Given the description of an element on the screen output the (x, y) to click on. 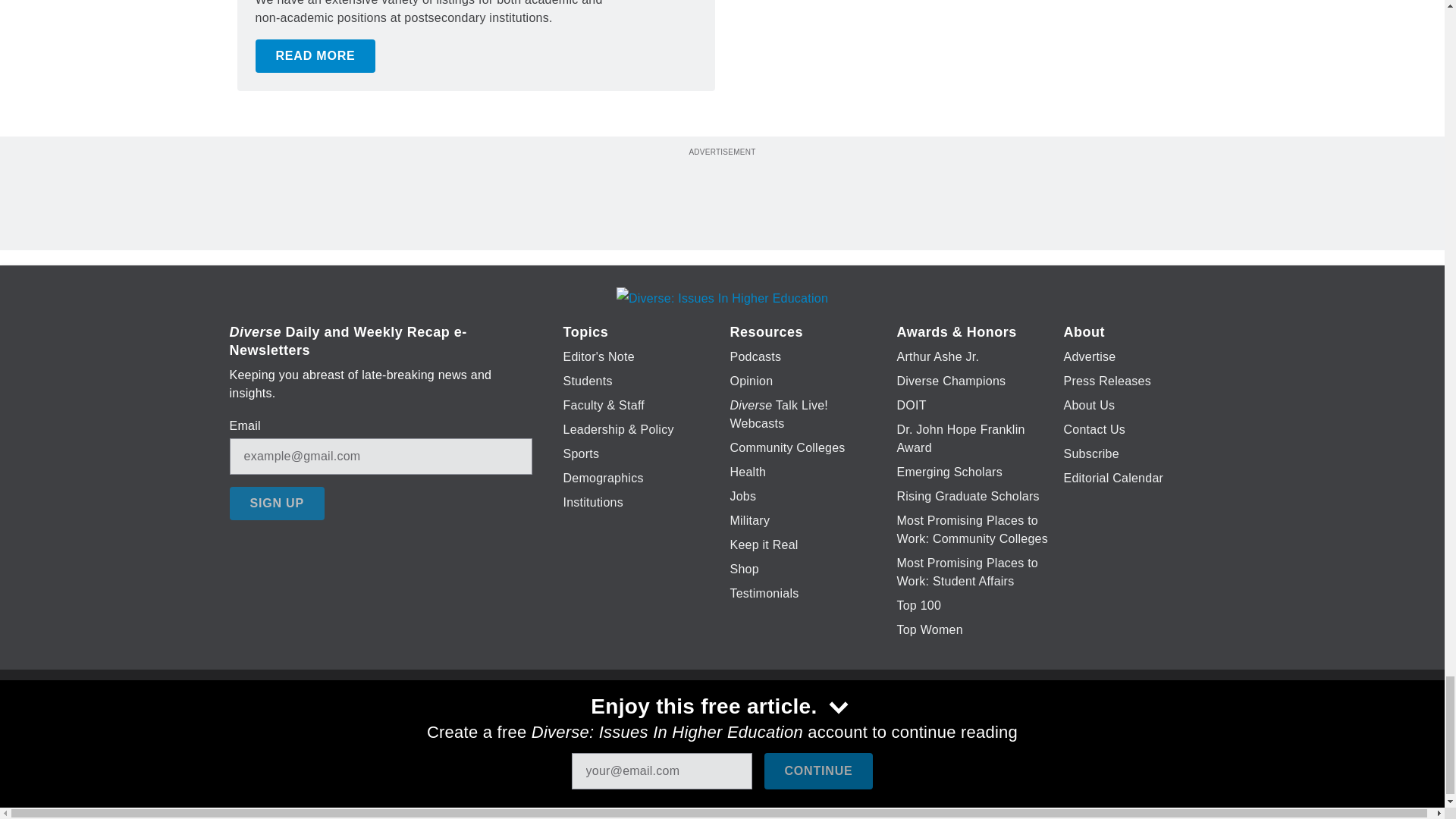
LinkedIn icon (718, 727)
Twitter X icon (674, 727)
Instagram icon (796, 727)
YouTube icon (757, 727)
Facebook icon (635, 727)
